Given the description of an element on the screen output the (x, y) to click on. 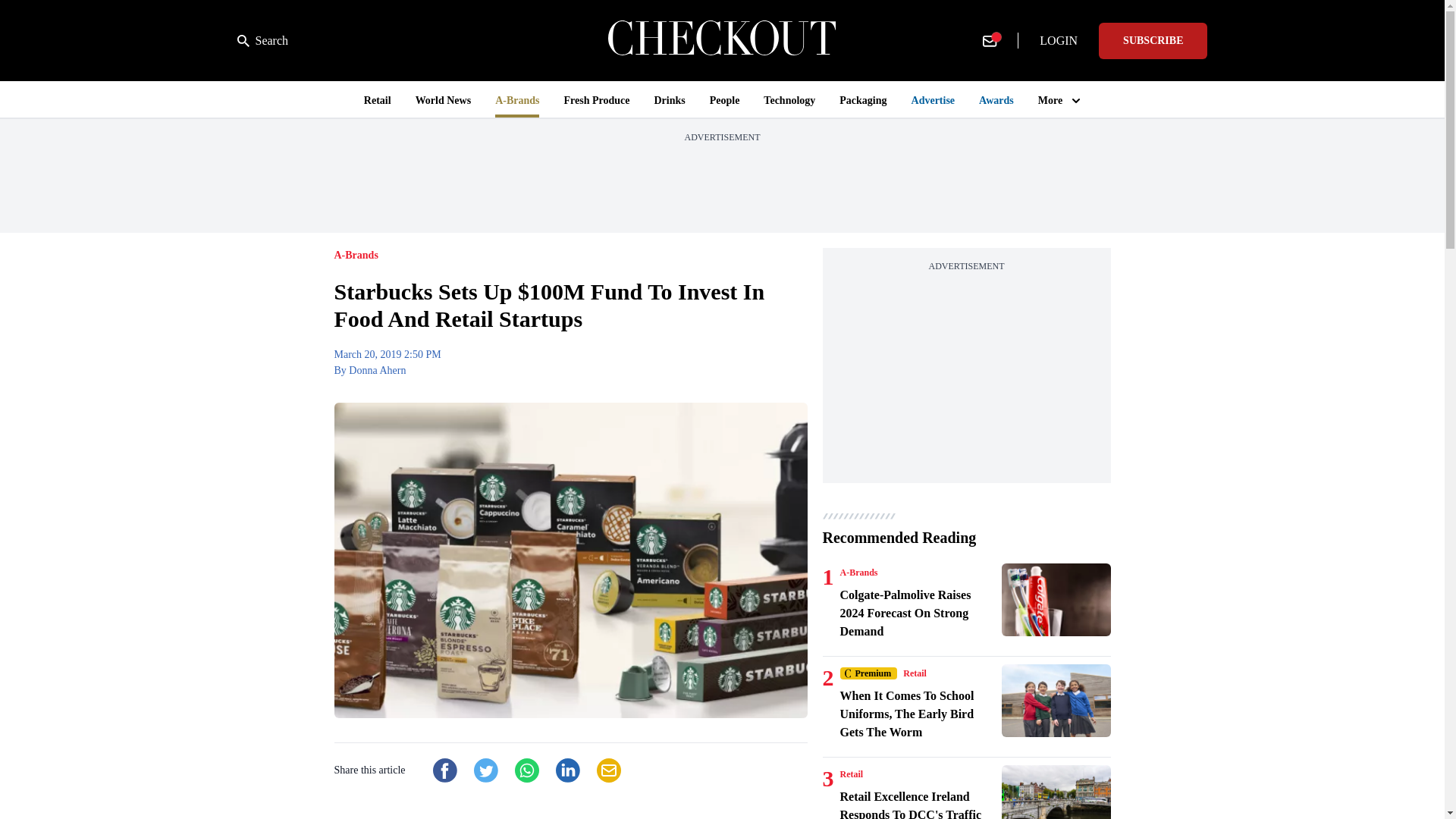
Colgate-Palmolive Raises 2024 Forecast On Strong Demand (917, 613)
Retail (914, 673)
Checkout (721, 40)
LOGIN (1058, 40)
Retail (851, 774)
Colgate-Palmolive Raises 2024 Forecast On Strong Demand (1055, 599)
Search (261, 40)
A-Brands (858, 572)
